Given the description of an element on the screen output the (x, y) to click on. 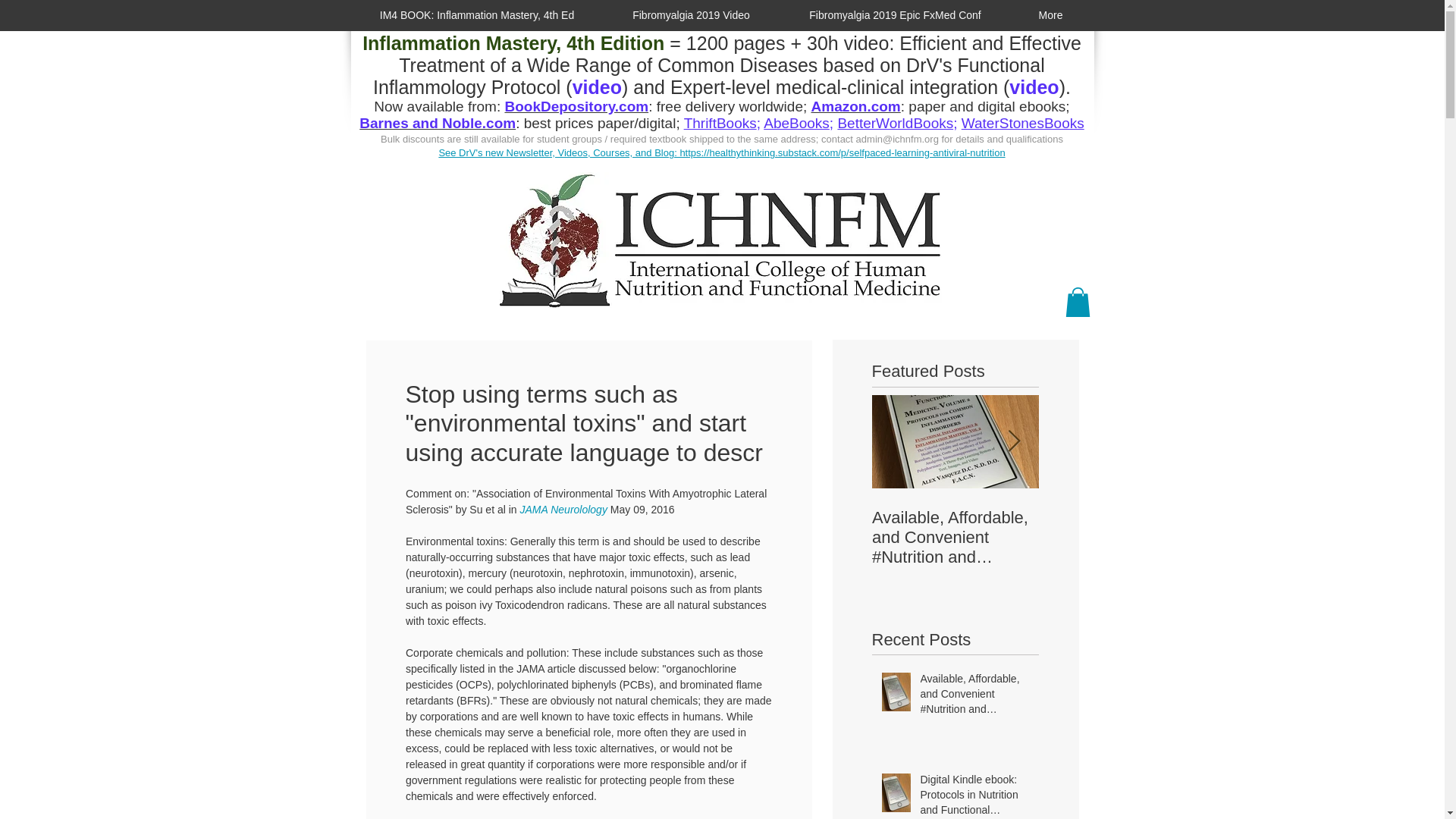
IM4 BOOK: Inflammation Mastery, 4th Ed (476, 15)
Fibromyalgia 2019 Video (691, 15)
Fibromyalgia 2019 Epic FxMed Conf (894, 15)
